Given the description of an element on the screen output the (x, y) to click on. 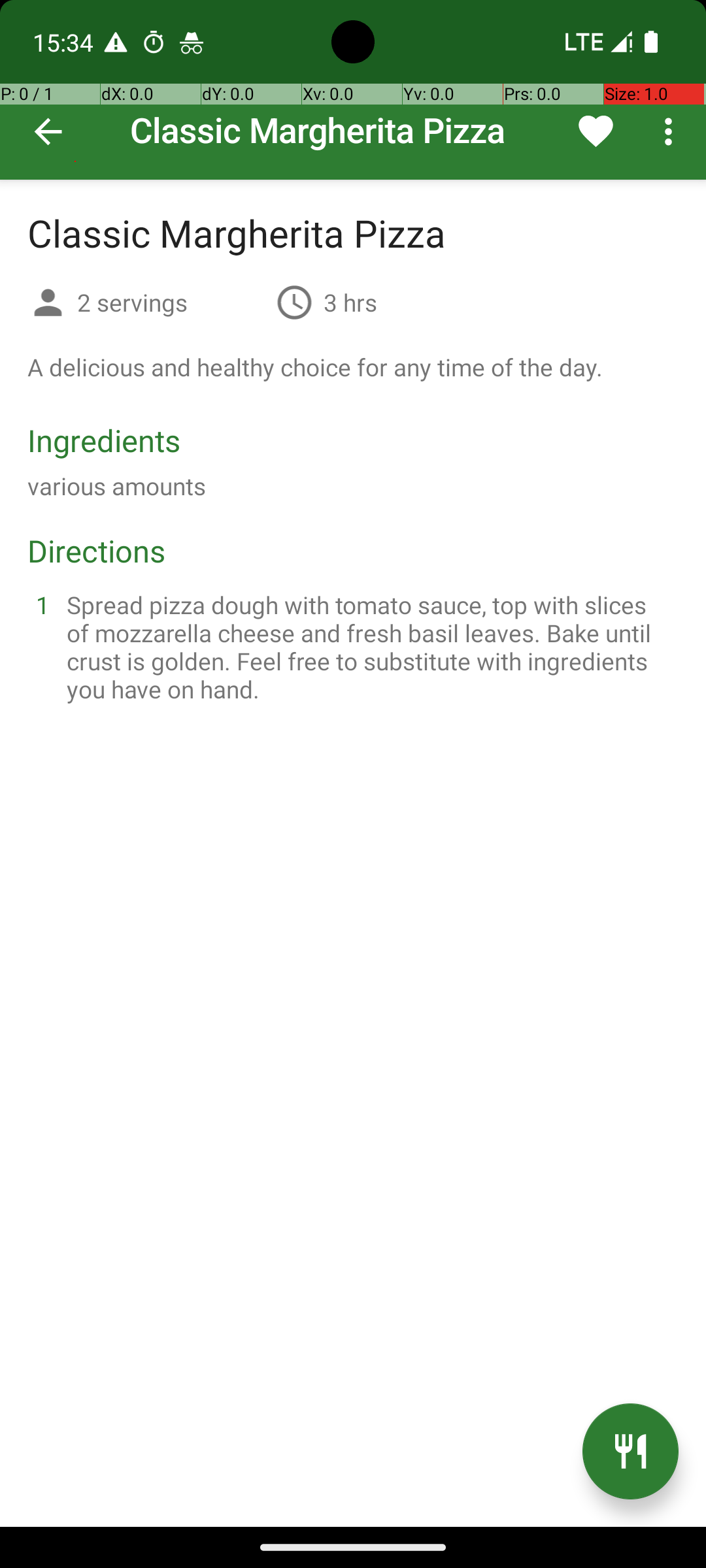
Spread pizza dough with tomato sauce, top with slices of mozzarella cheese and fresh basil leaves. Bake until crust is golden. Feel free to substitute with ingredients you have on hand. Element type: android.widget.TextView (368, 646)
